Given the description of an element on the screen output the (x, y) to click on. 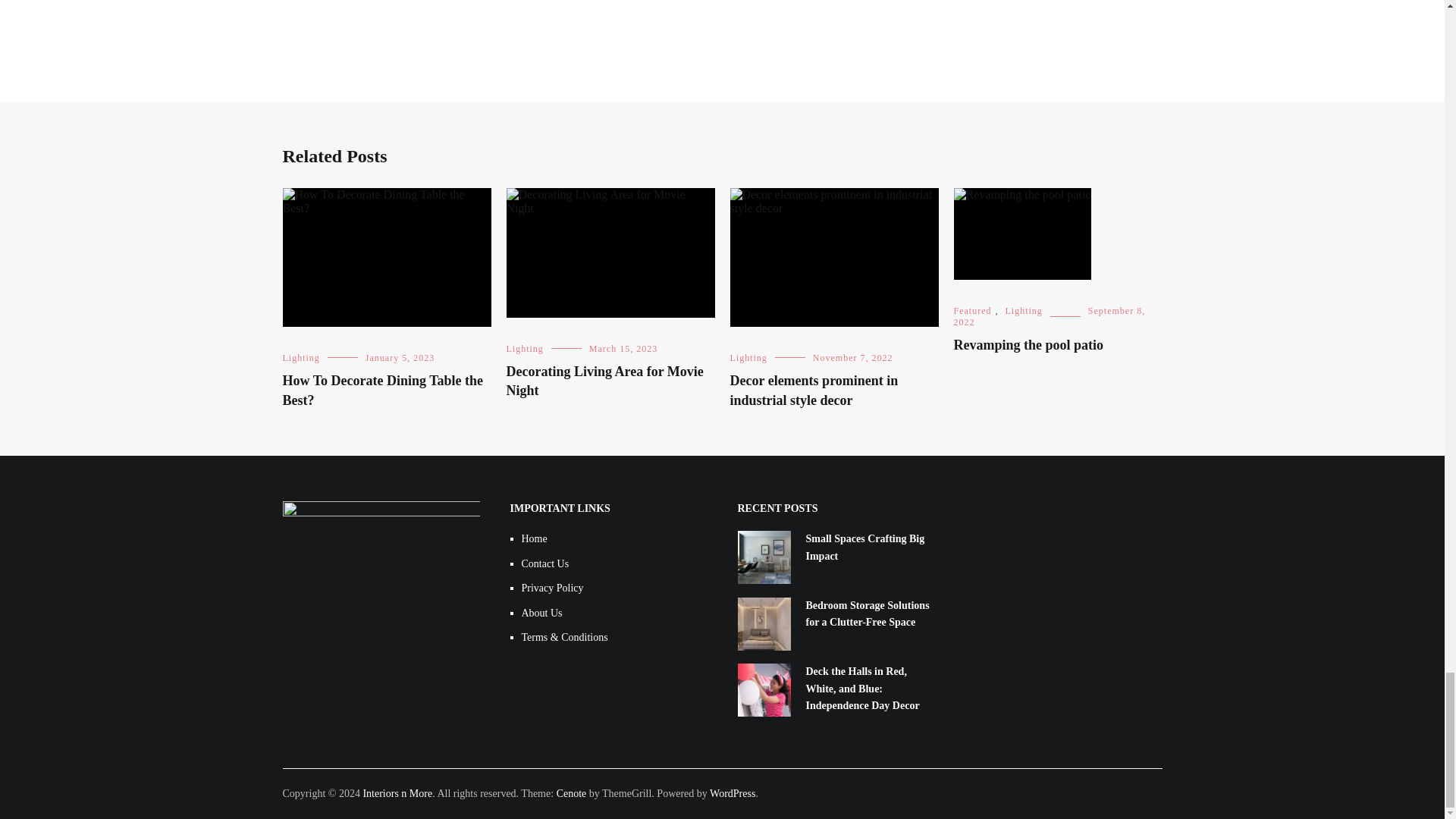
Interiors n More (397, 793)
